Given the description of an element on the screen output the (x, y) to click on. 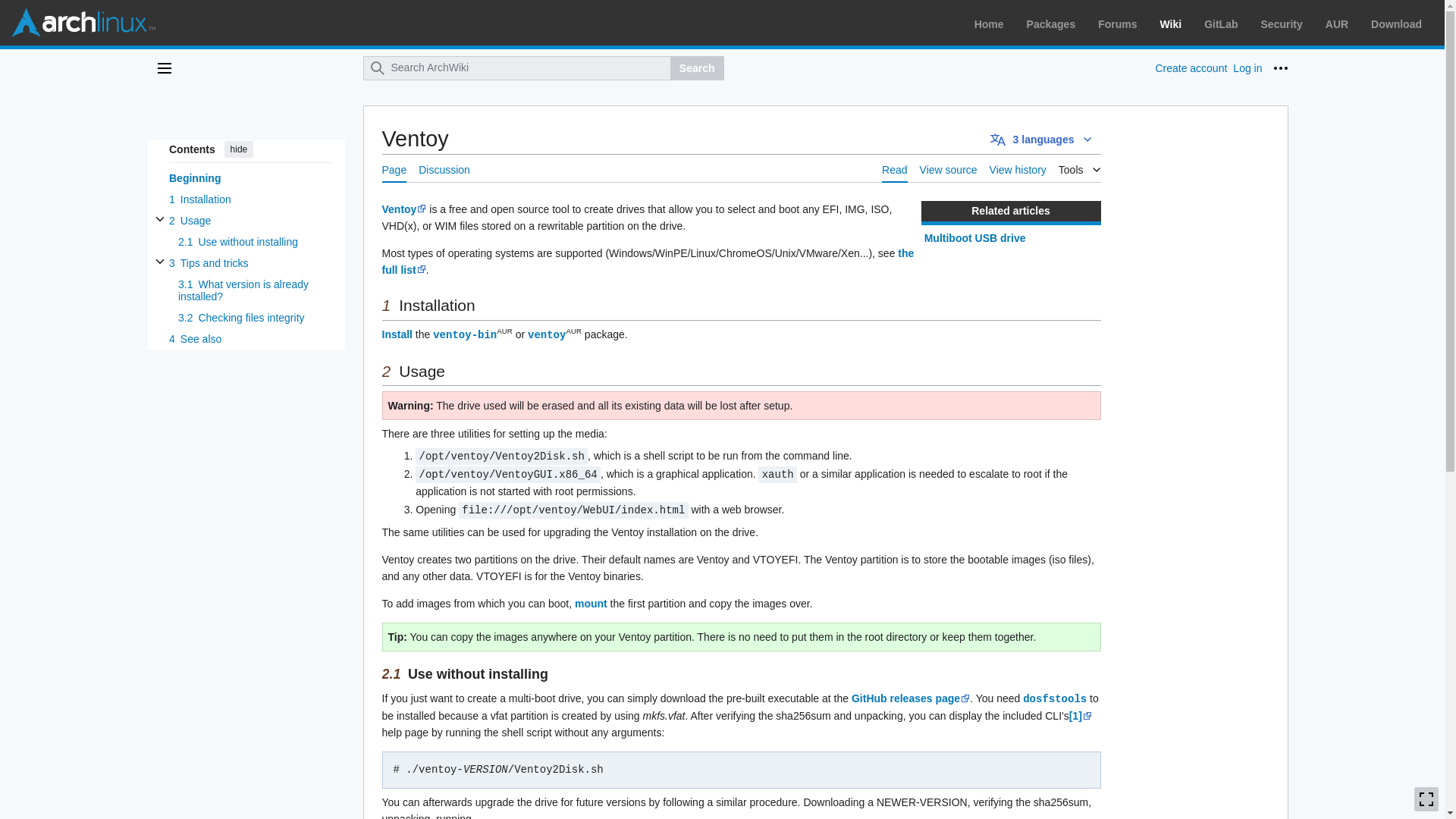
Download (1396, 24)
Search (696, 68)
Create account (1190, 68)
More options (1280, 68)
Packages (1050, 24)
Beginning (249, 178)
Wiki (1171, 24)
3Tips and tricks (249, 262)
AUR (1336, 24)
